Given the description of an element on the screen output the (x, y) to click on. 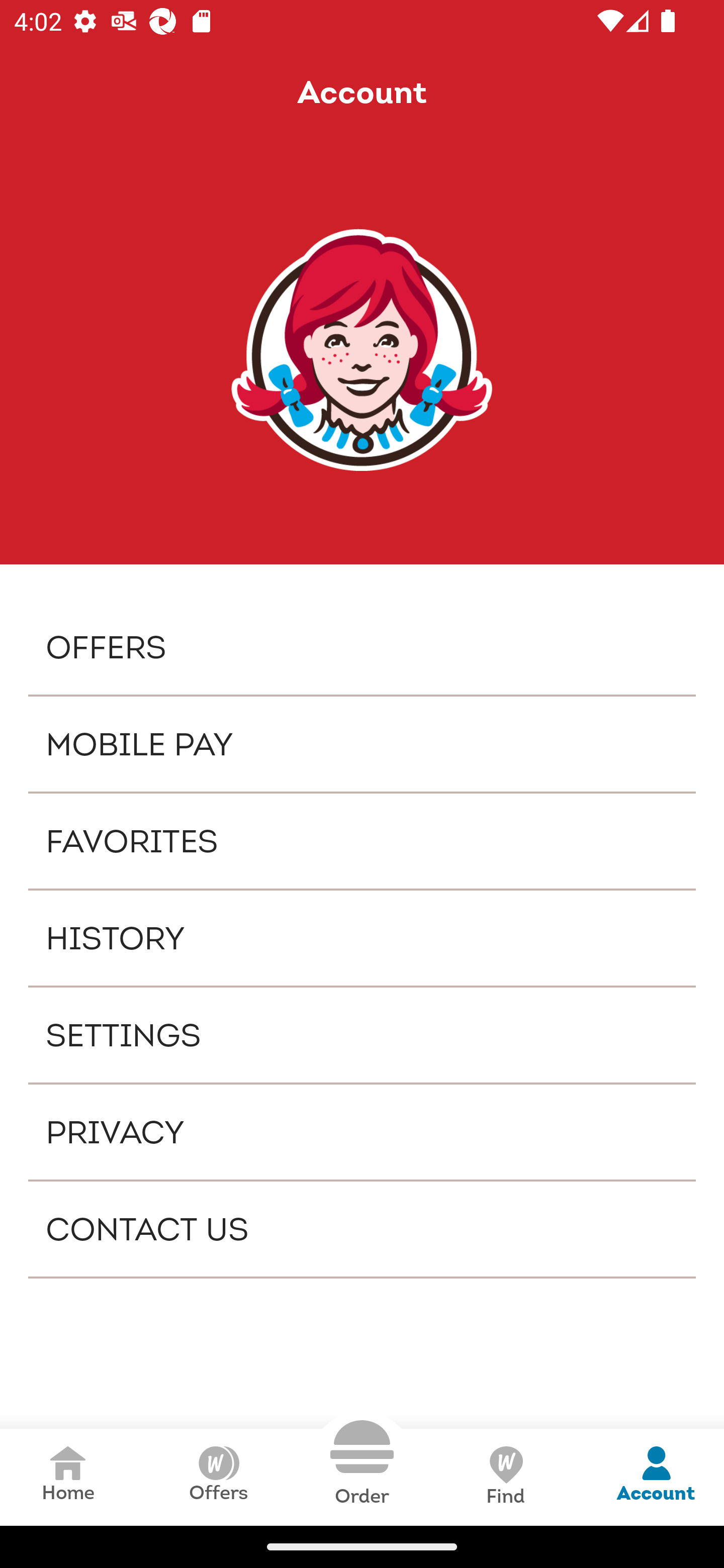
OFFERS Offers,1 of 8 (361, 646)
MOBILE PAY Mobile Pay,2 of 8 (361, 743)
FAVORITES Favorites,3 of 8 (361, 841)
HISTORY History,5 of 8 (361, 938)
SETTINGS Settings,6 of 8 (361, 1034)
PRIVACY Privacy,7 of 8 (361, 1132)
CONTACT US contact us,8 of 8 (361, 1229)
Order,3 of 5 Order (361, 1463)
Home,1 of 5 Home (68, 1476)
Rewards,2 of 5 Offers Offers (218, 1476)
Scan,4 of 5 Find Find (505, 1476)
Account,5 of 5 Account (655, 1476)
